Given the description of an element on the screen output the (x, y) to click on. 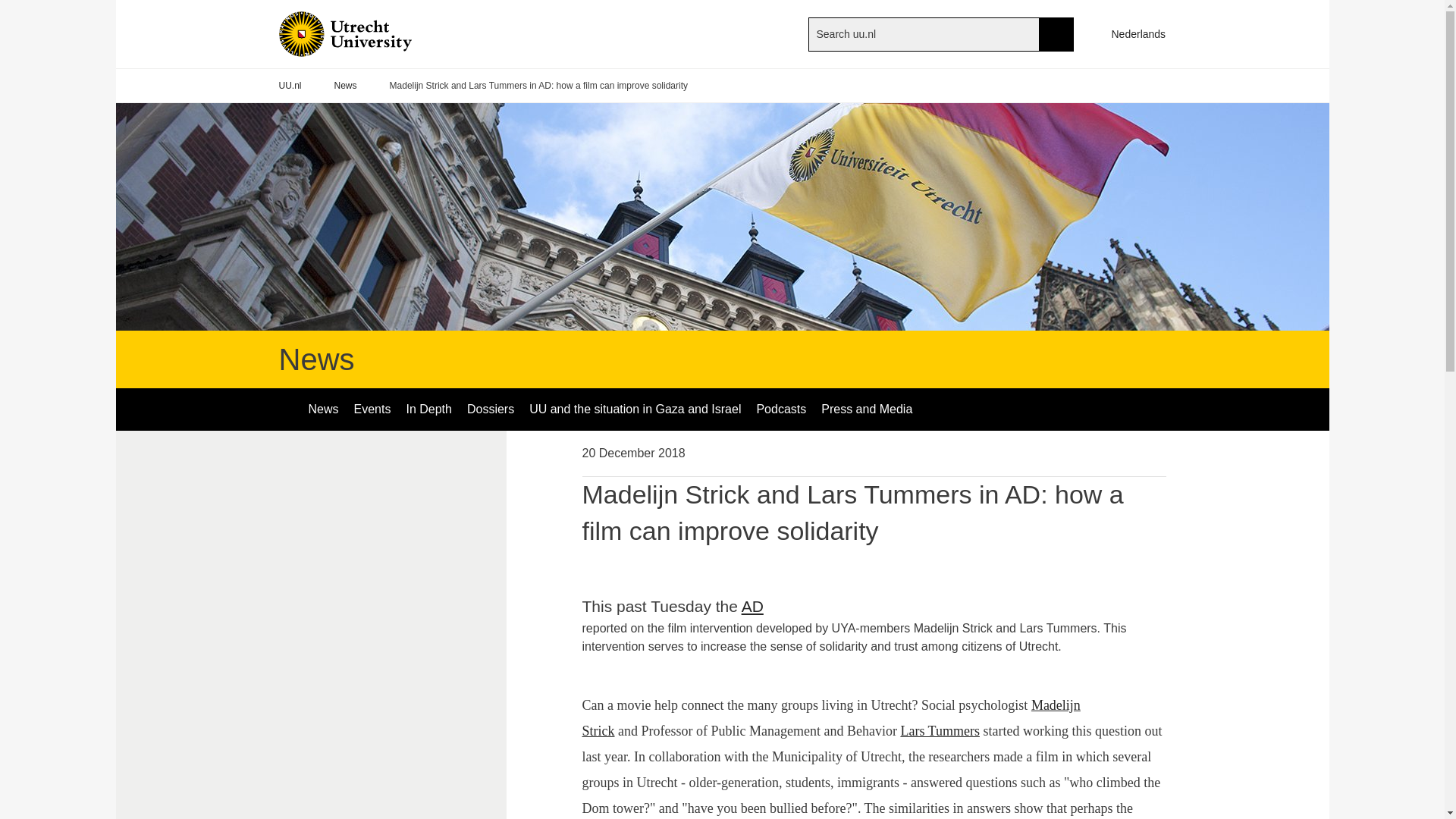
Home (370, 33)
UU.nl (290, 85)
Podcasts (780, 409)
In Depth (427, 409)
Lars Tummers (939, 730)
AD (763, 606)
Skip to main content (7, 7)
Events (372, 409)
Nederlands (1131, 33)
News (322, 409)
SEARCH (1056, 33)
UU and the situation in Gaza and Israel (634, 409)
Dossiers (490, 409)
